Given the description of an element on the screen output the (x, y) to click on. 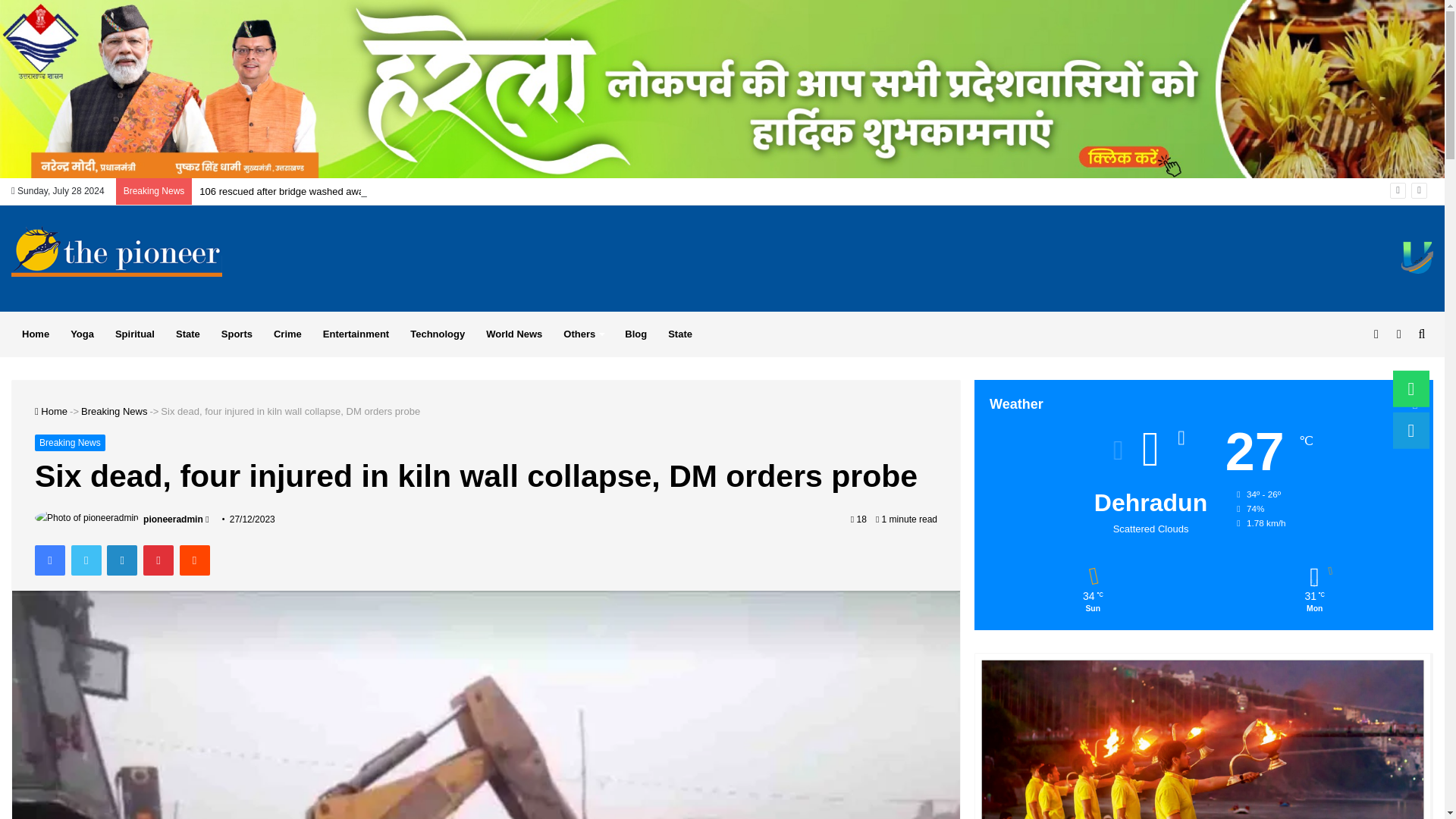
Entertainment (355, 334)
Twitter (86, 560)
Facebook (49, 560)
Breaking News (69, 442)
State (680, 334)
Twitter (86, 560)
Sports (237, 334)
pioneeradmin (172, 519)
Technology (437, 334)
Pinterest (157, 560)
Crime (288, 334)
LinkedIn (121, 560)
Pinterest (157, 560)
Reddit (194, 560)
Breaking News (114, 410)
